Given the description of an element on the screen output the (x, y) to click on. 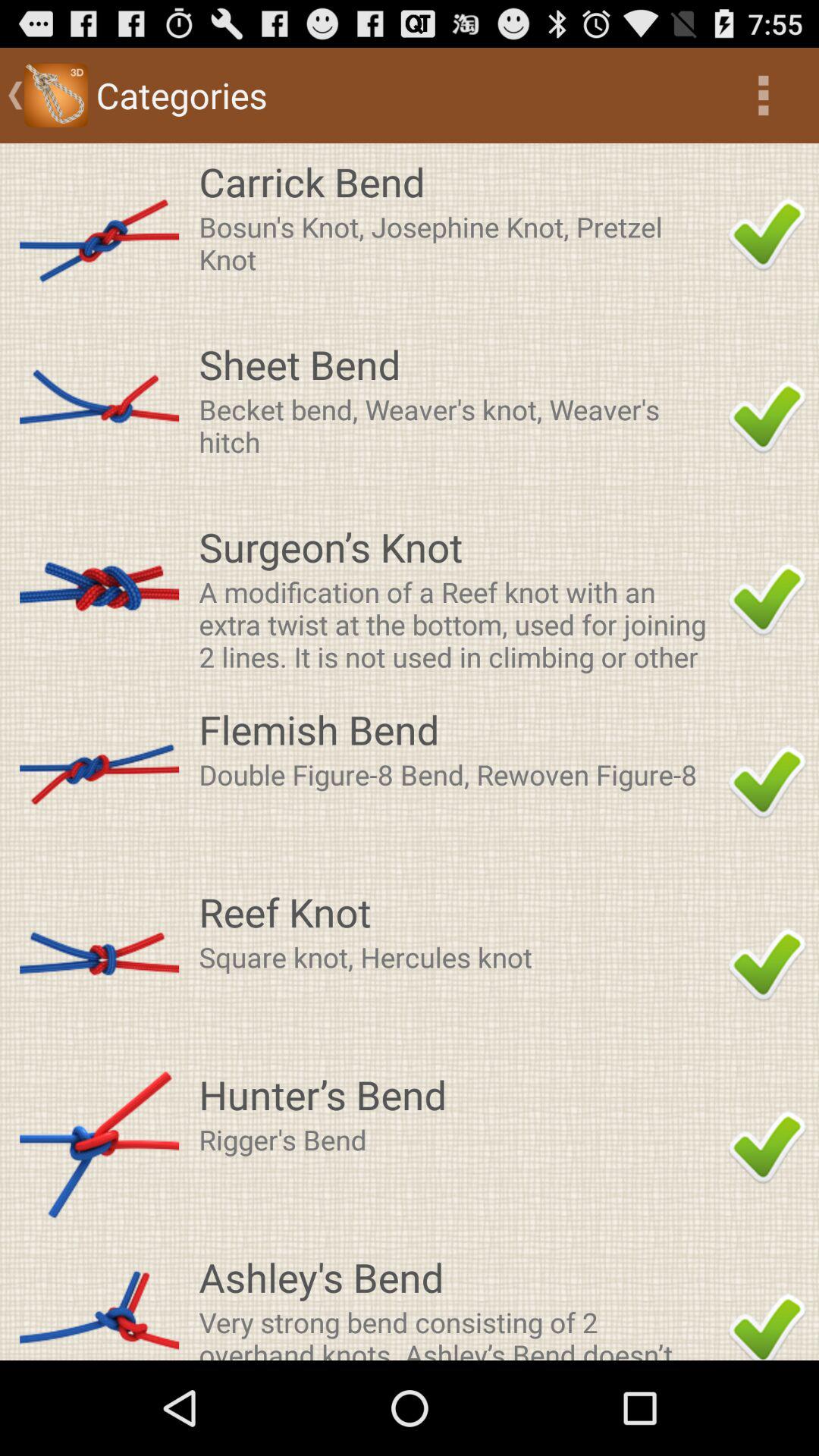
select the flemish bend app (459, 728)
